Given the description of an element on the screen output the (x, y) to click on. 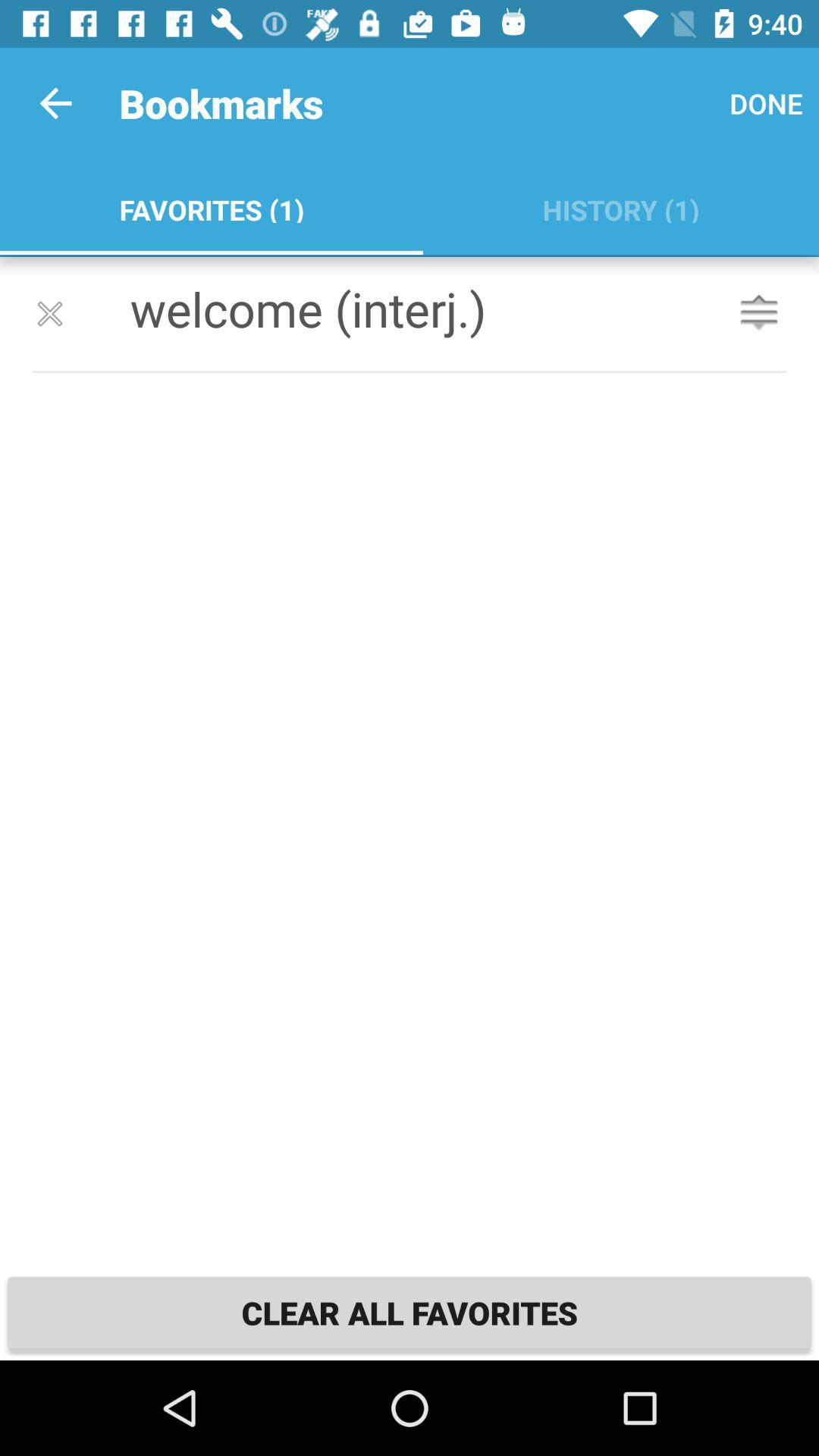
choose the app next to favorites (1) (766, 103)
